Given the description of an element on the screen output the (x, y) to click on. 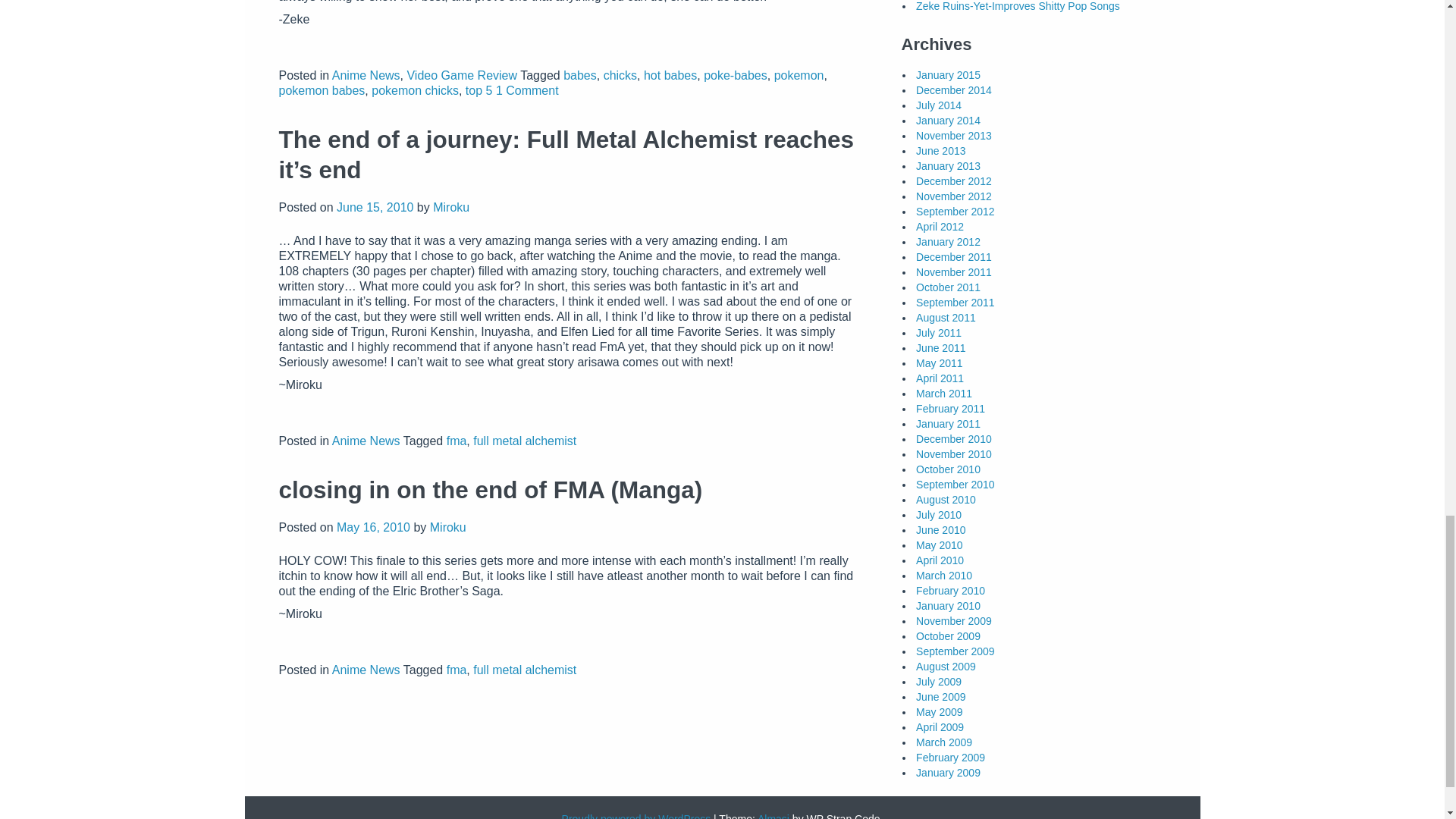
Anime News (365, 74)
View all posts by Miroku (450, 206)
View all posts by Miroku (447, 526)
8:13 pm (373, 526)
8:44 am (374, 206)
